Given the description of an element on the screen output the (x, y) to click on. 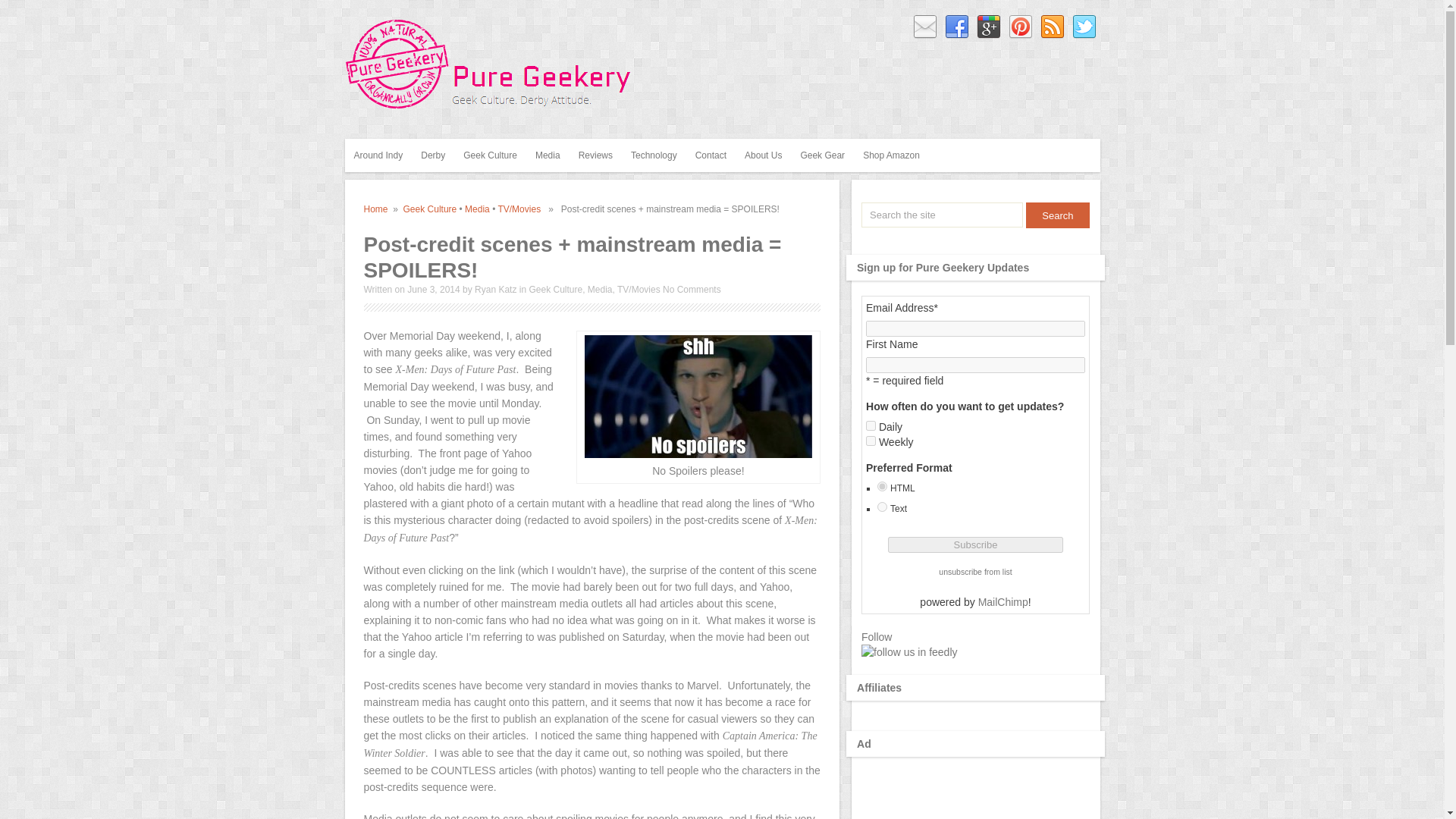
Email (924, 27)
Daily (871, 425)
Facebook (956, 27)
Derby (433, 154)
Technology (653, 154)
Media (547, 154)
Geek Culture (489, 154)
Posts by Ryan Katz (495, 289)
text (881, 506)
Around Indy (377, 154)
Contact (710, 154)
Facebook (956, 27)
RSS (1052, 27)
RSS (1052, 27)
About Us (762, 154)
